Given the description of an element on the screen output the (x, y) to click on. 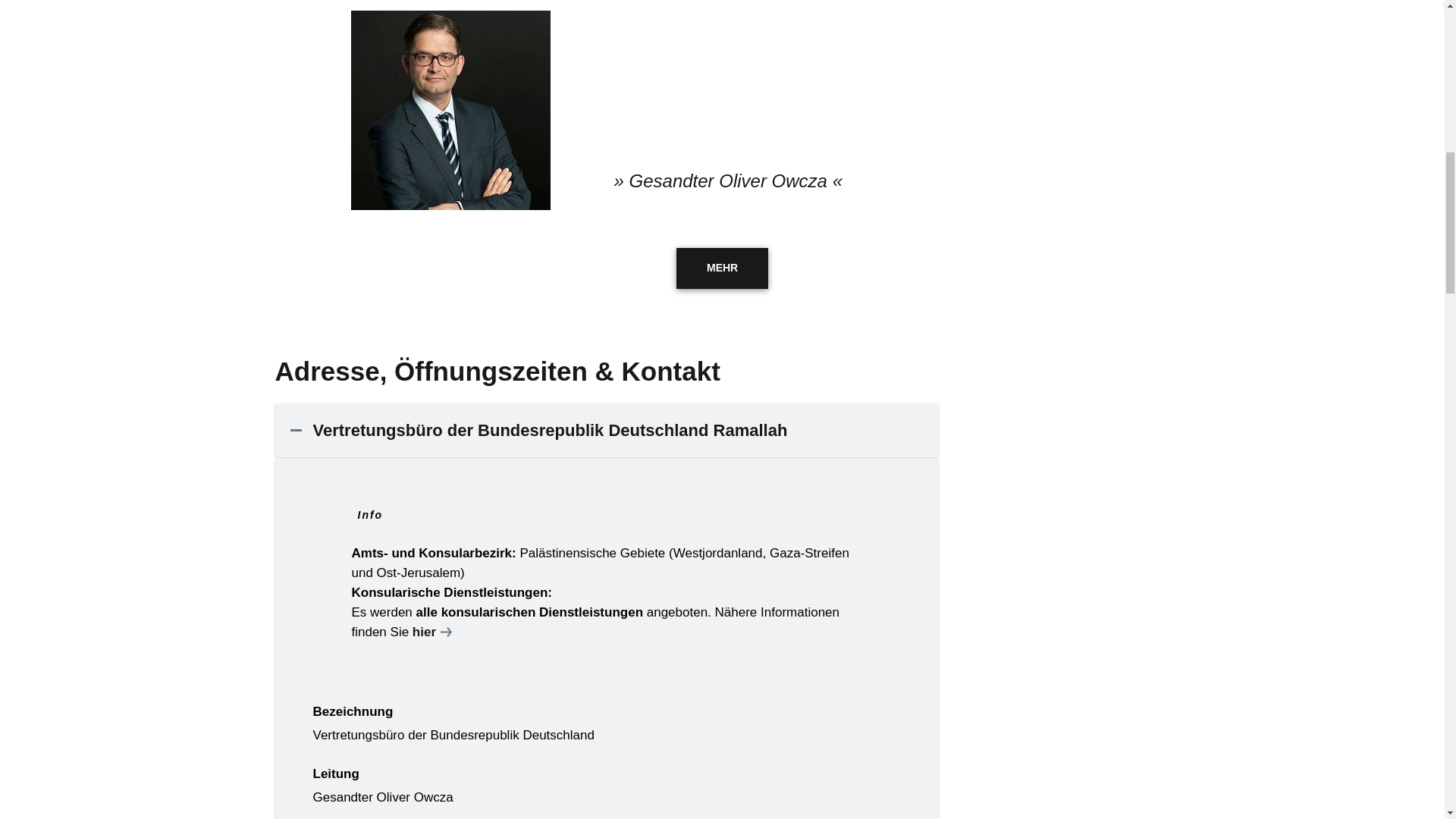
Mehr (722, 268)
